Given the description of an element on the screen output the (x, y) to click on. 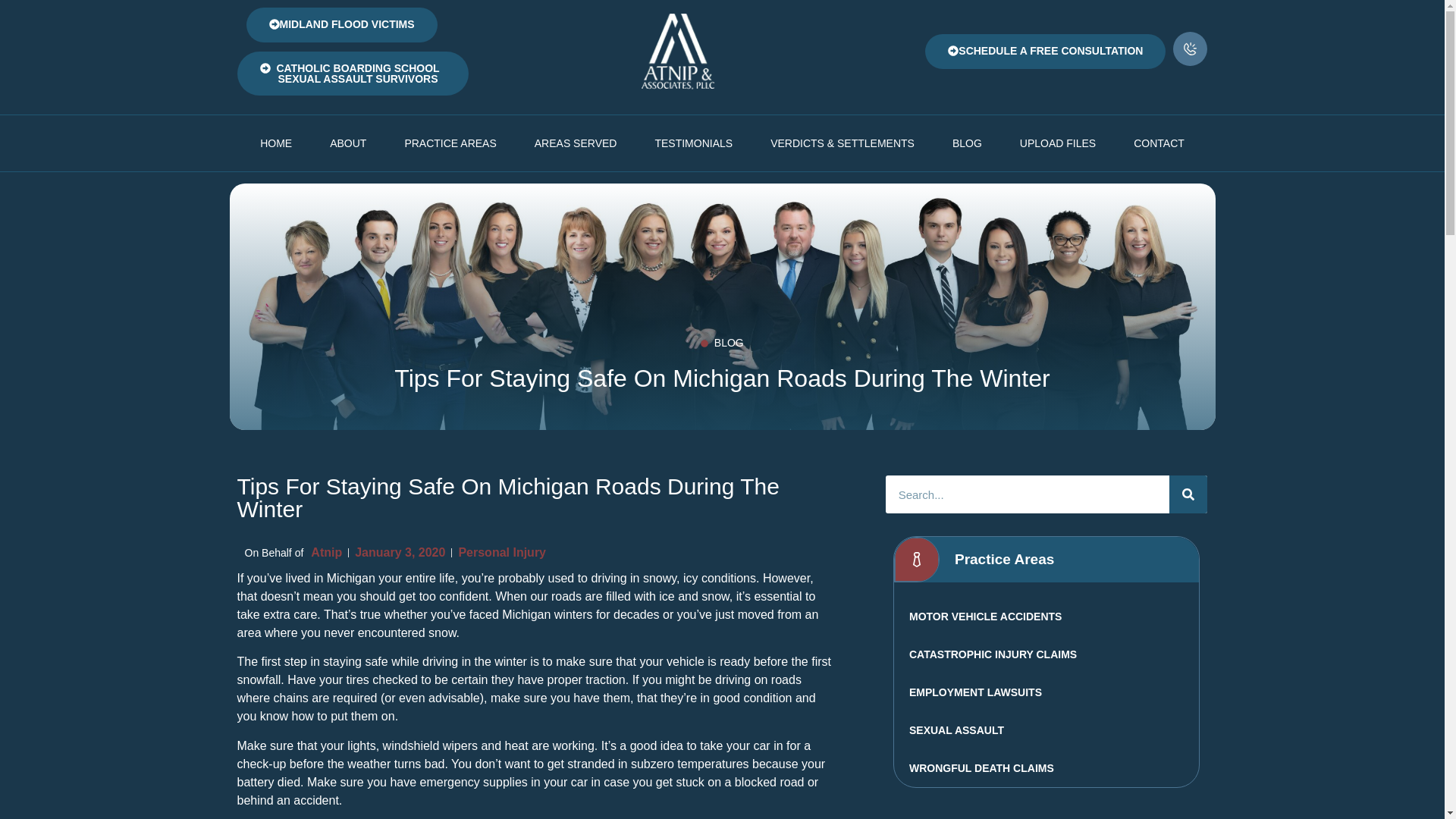
PRACTICE AREAS (450, 143)
HOME (276, 143)
ABOUT (348, 143)
MIDLAND FLOOD VICTIMS (341, 24)
CATHOLIC BOARDING SCHOOL SEXUAL ASSAULT SURVIVORS (351, 73)
SCHEDULE A FREE CONSULTATION (1045, 51)
